Given the description of an element on the screen output the (x, y) to click on. 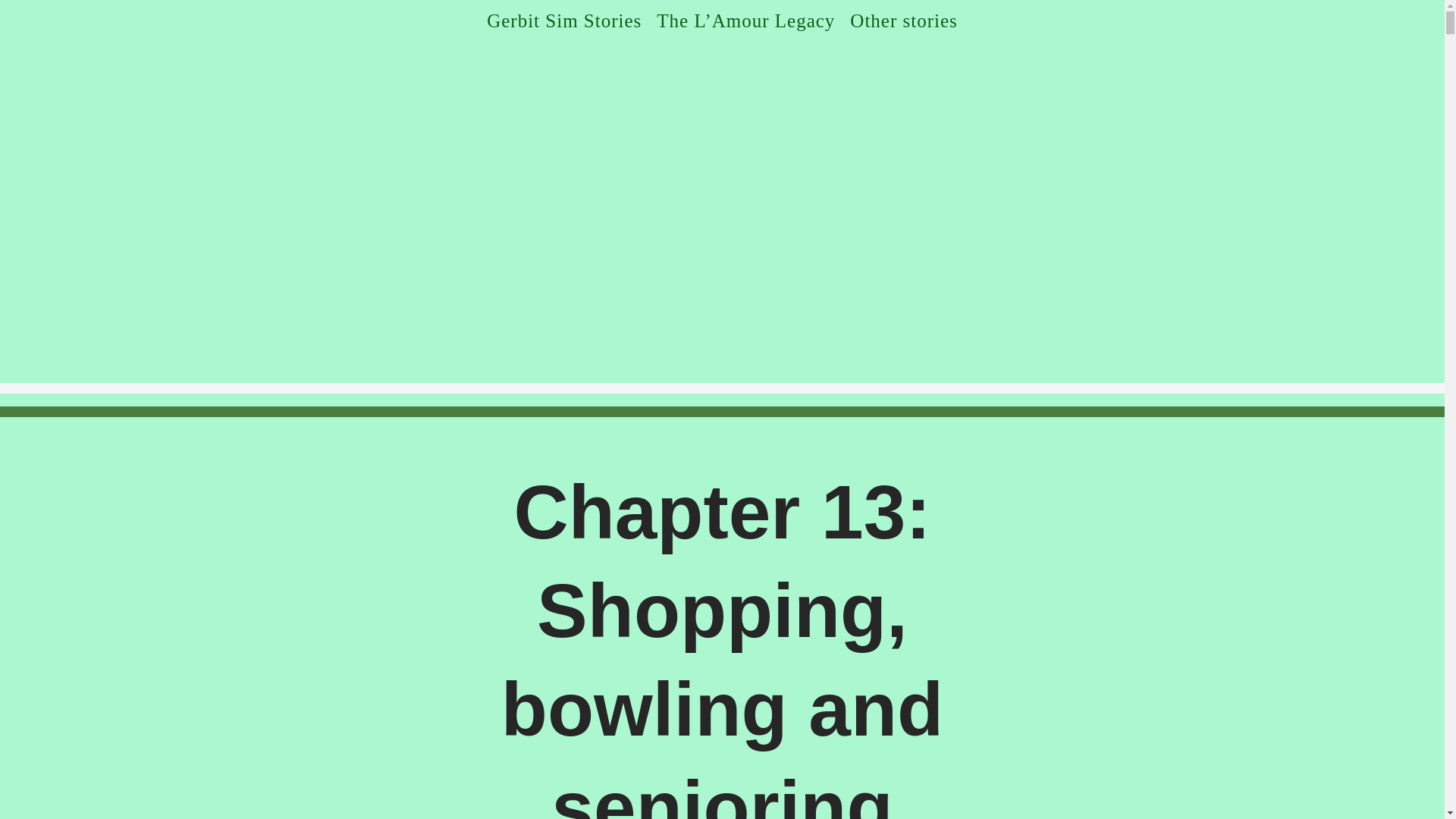
Skip to content (11, 31)
Gerbit Sim Stories (564, 20)
Other stories (903, 20)
